Given the description of an element on the screen output the (x, y) to click on. 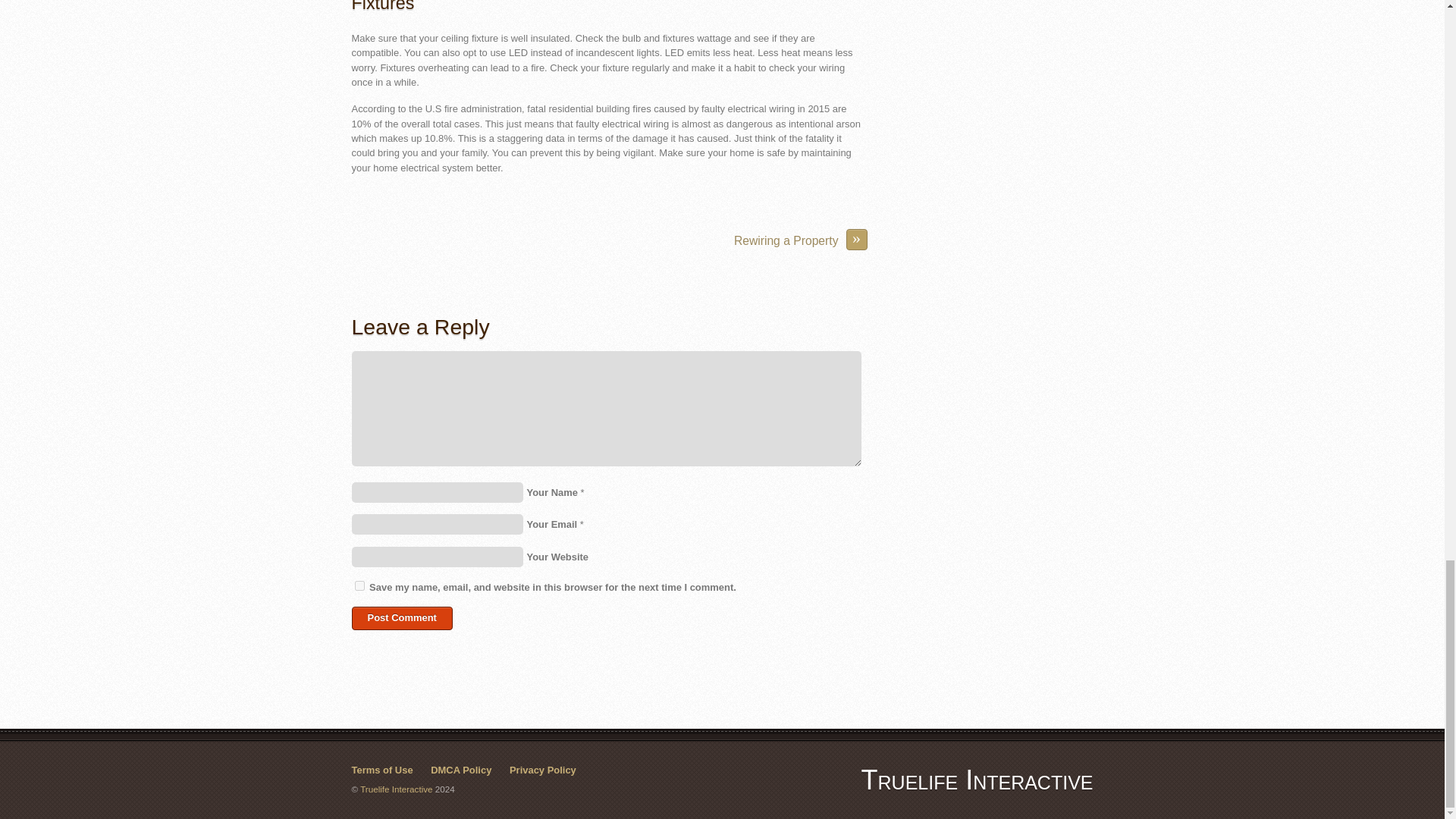
yes (360, 585)
Truelife Interactive (977, 779)
Post Comment (402, 617)
Privacy Policy (542, 769)
Truelife Interactive (977, 779)
DMCA Policy (461, 769)
Terms of Use (382, 769)
Post Comment (402, 617)
